Given the description of an element on the screen output the (x, y) to click on. 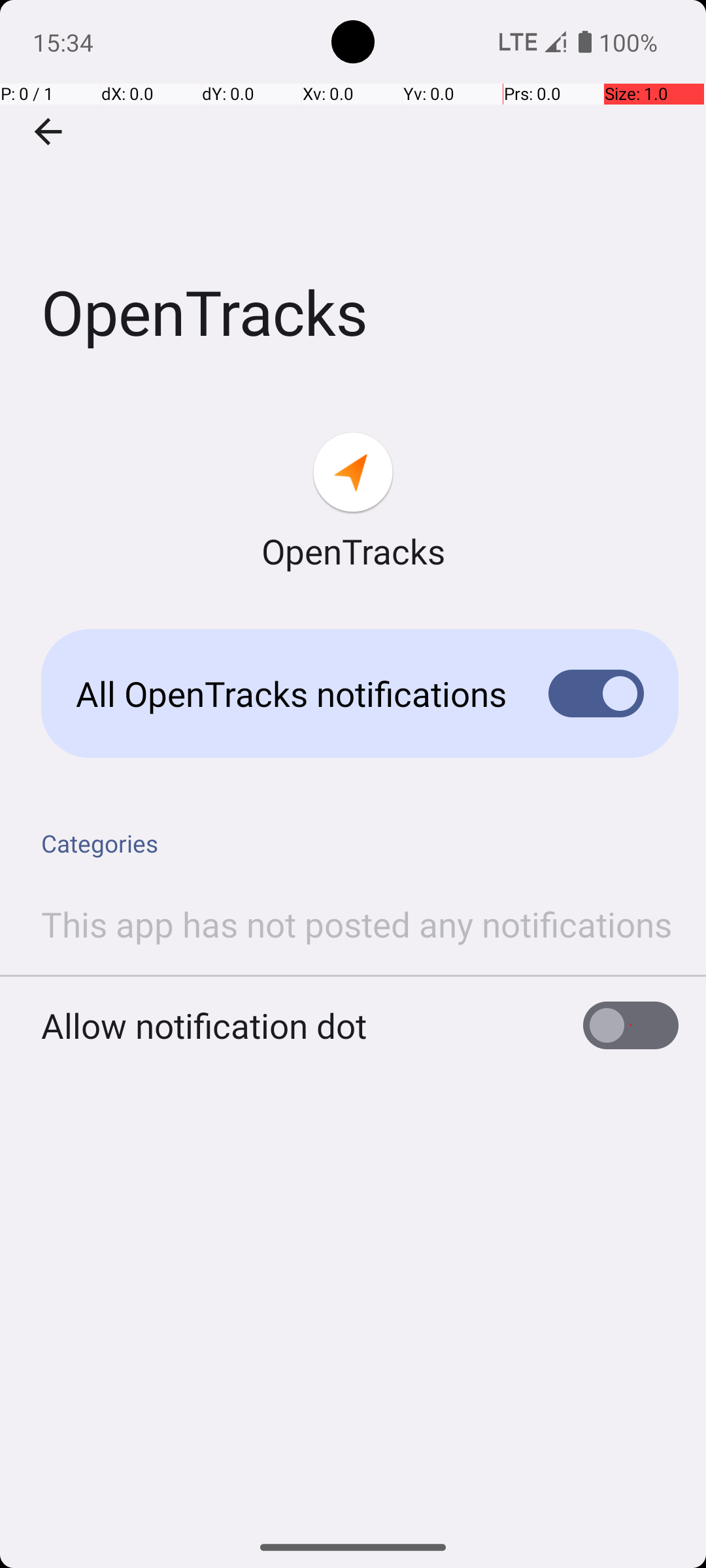
All OpenTracks notifications Element type: android.widget.TextView (291, 693)
This app has not posted any notifications Element type: android.widget.TextView (356, 923)
